Given the description of an element on the screen output the (x, y) to click on. 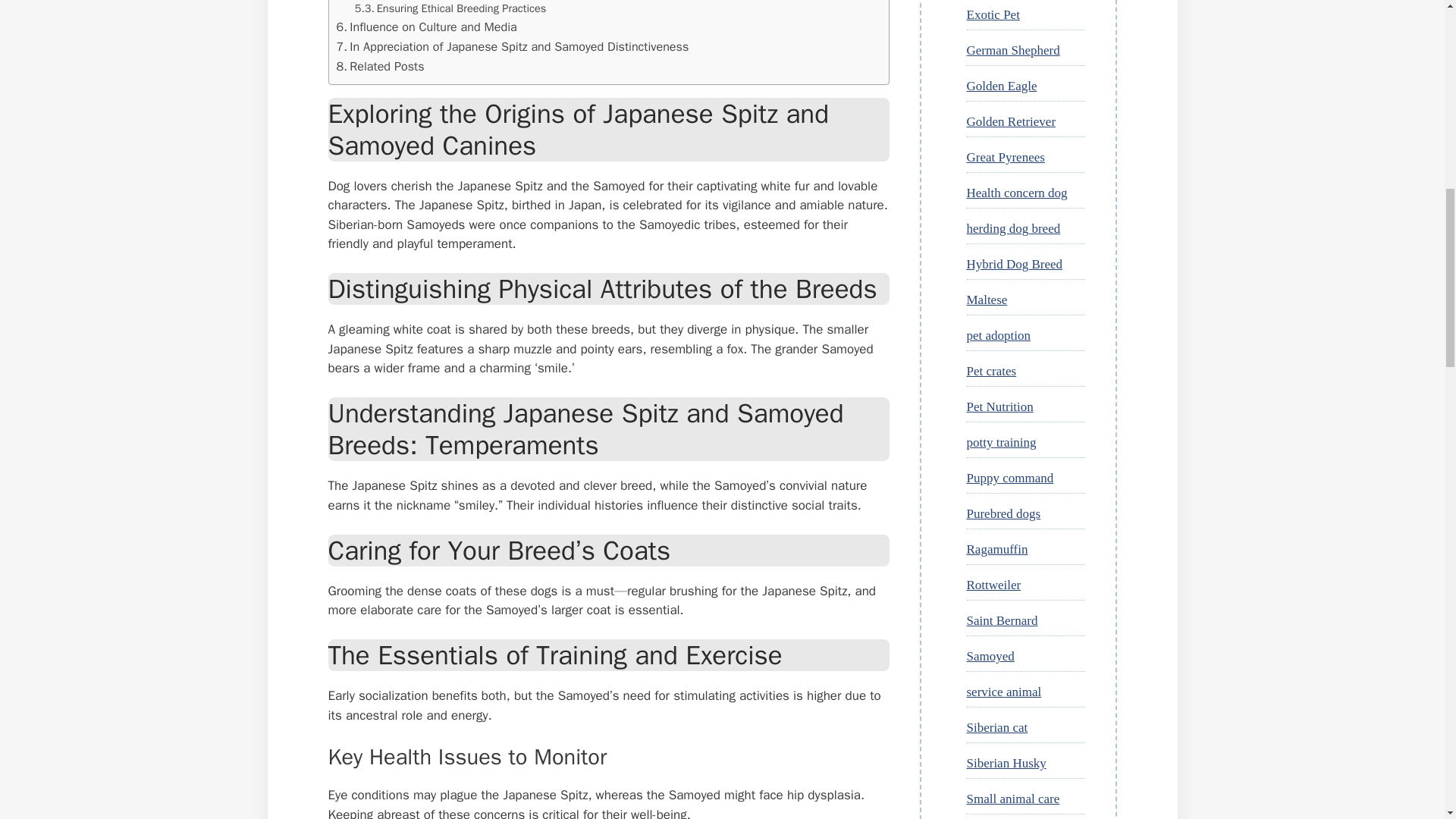
Related Posts (380, 66)
Related Posts (380, 66)
Ensuring Ethical Breeding Practices (451, 8)
Influence on Culture and Media (426, 26)
Influence on Culture and Media (426, 26)
Ensuring Ethical Breeding Practices (451, 8)
